Given the description of an element on the screen output the (x, y) to click on. 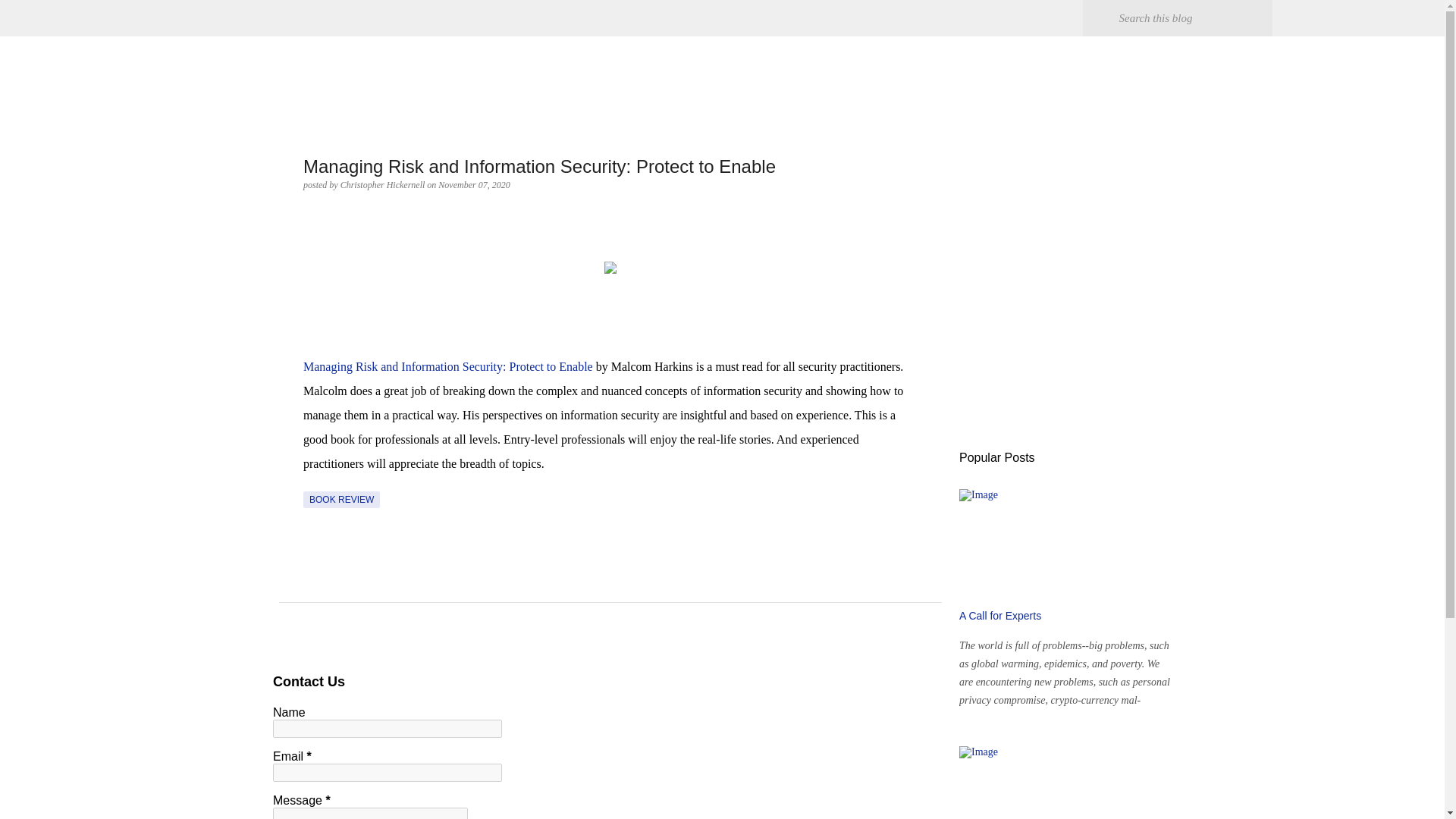
author profile (384, 184)
BOOK REVIEW (341, 499)
Christopher Hickernell (384, 184)
permanent link (473, 184)
November 07, 2020 (473, 184)
Managing Risk and Information Security: Protect to Enable (447, 366)
A Call for Experts (1000, 615)
